Given the description of an element on the screen output the (x, y) to click on. 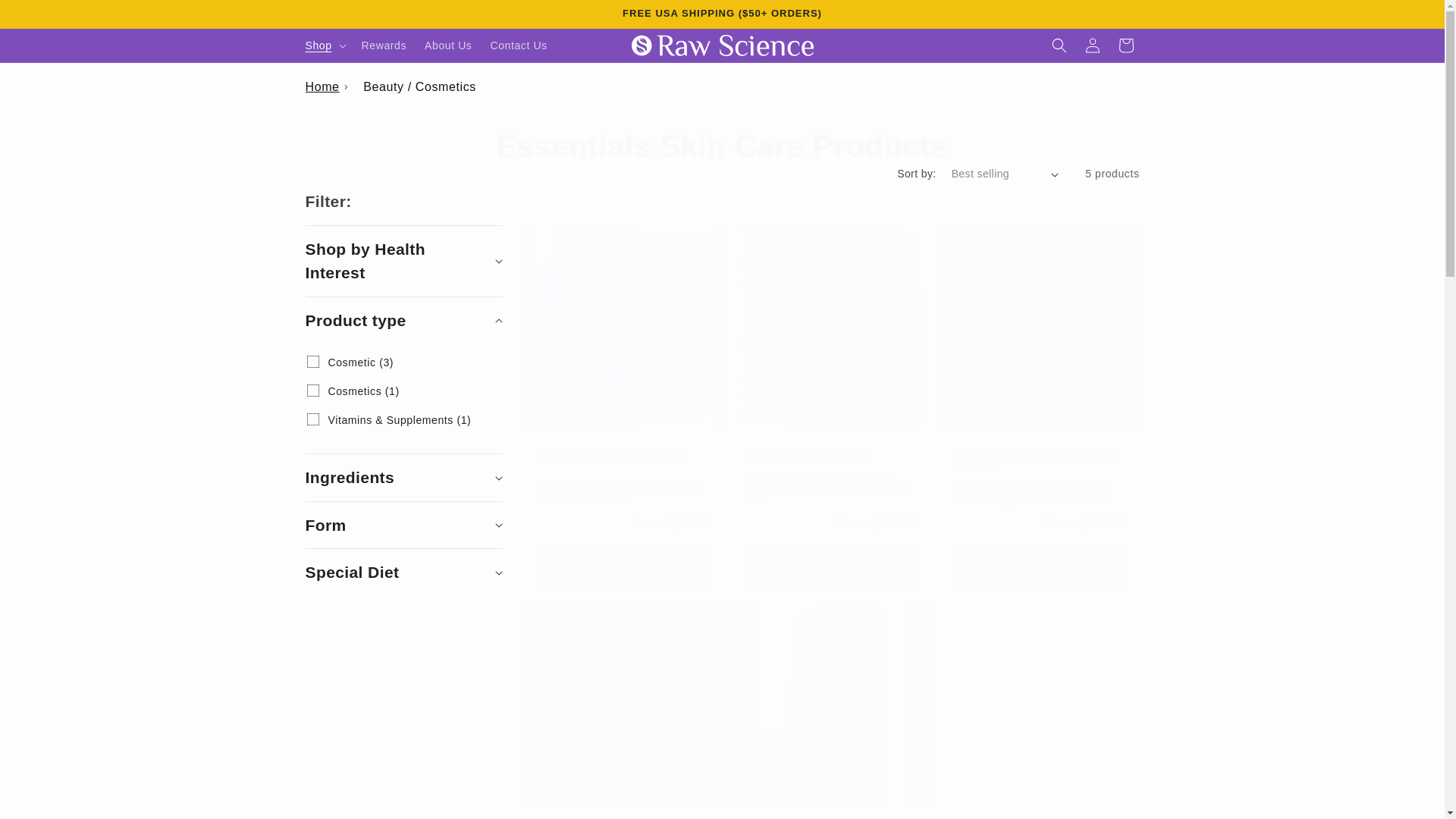
Cosmetics (311, 390)
Cosmetic (311, 361)
Skip to content (47, 18)
Essentials Skin Care Products (721, 146)
